Given the description of an element on the screen output the (x, y) to click on. 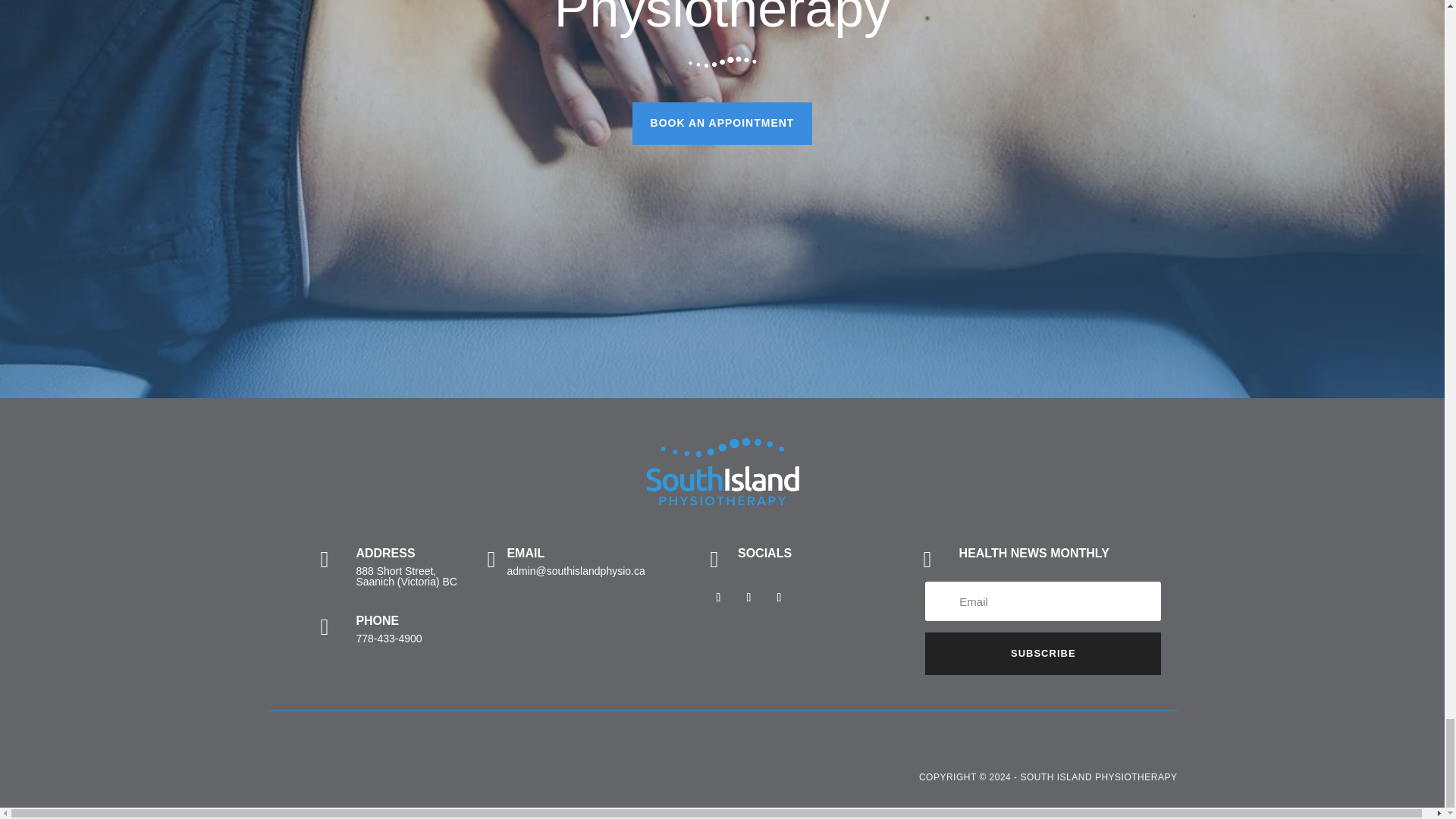
Follow on Youtube (779, 597)
Follow on Instagram (748, 597)
Dots (722, 61)
Follow on Facebook (718, 597)
